Given the description of an element on the screen output the (x, y) to click on. 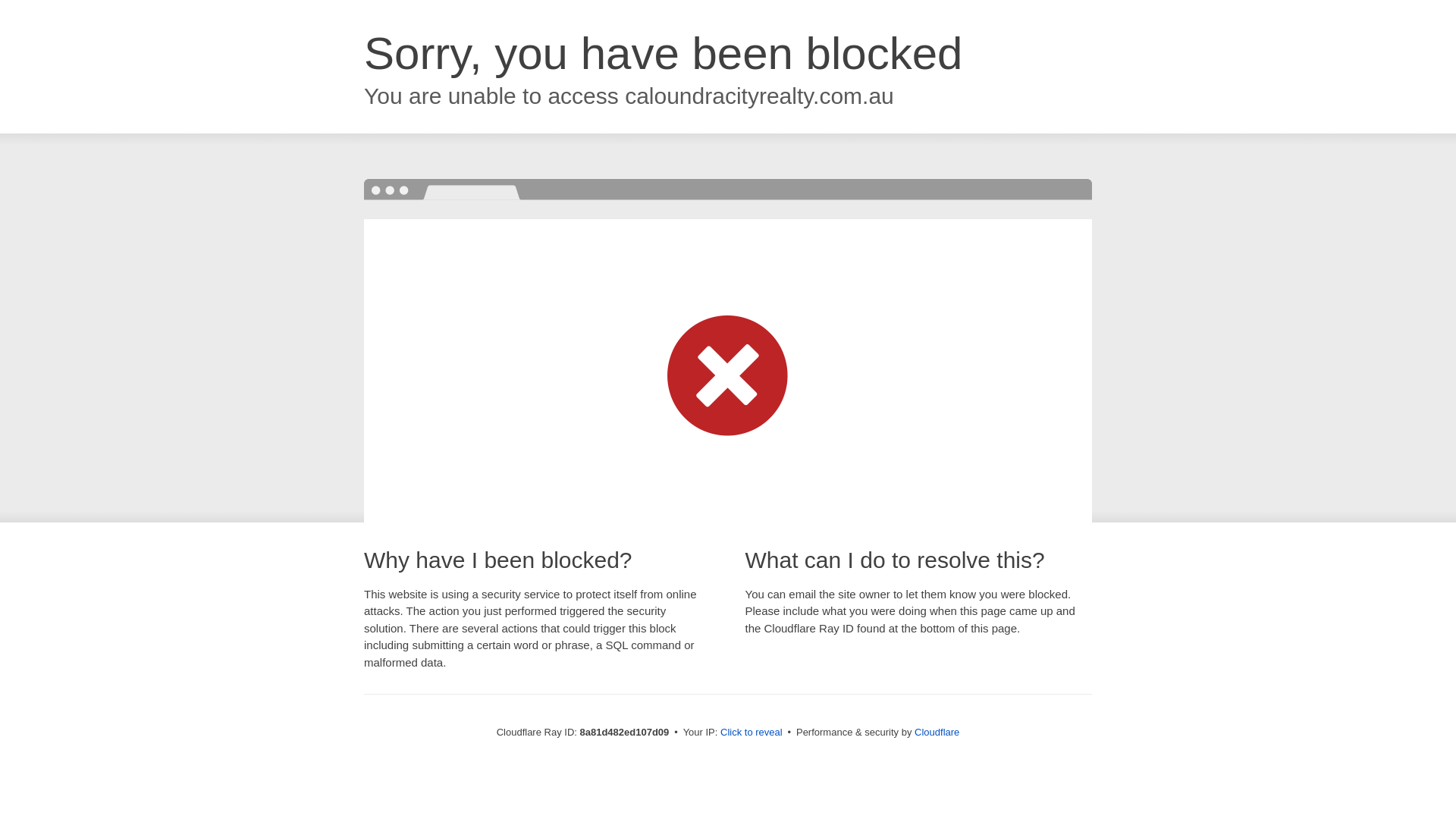
Cloudflare (936, 731)
Click to reveal (751, 732)
